Given the description of an element on the screen output the (x, y) to click on. 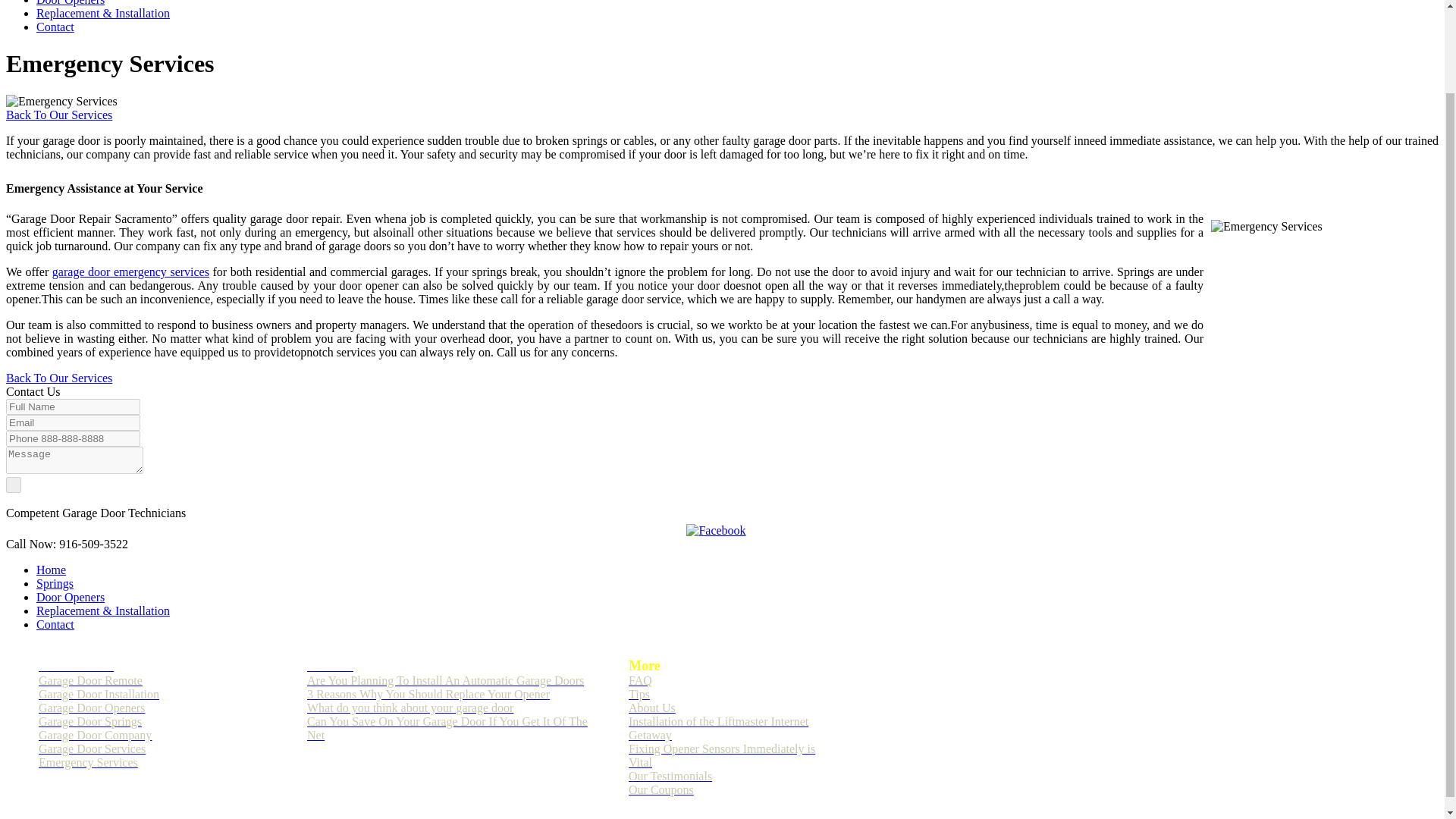
Garage Door Remote (90, 680)
About Us (651, 707)
Door Openers (70, 2)
Door Openers (70, 596)
Fixing Opener Sensors Immediately is Vital (721, 755)
Can You Save On Your Garage Door If You Get It Of The Net (447, 728)
Our Services (76, 666)
Garage Door Openers (91, 707)
Our Coupons (661, 789)
Emergency Services (1321, 302)
